Given the description of an element on the screen output the (x, y) to click on. 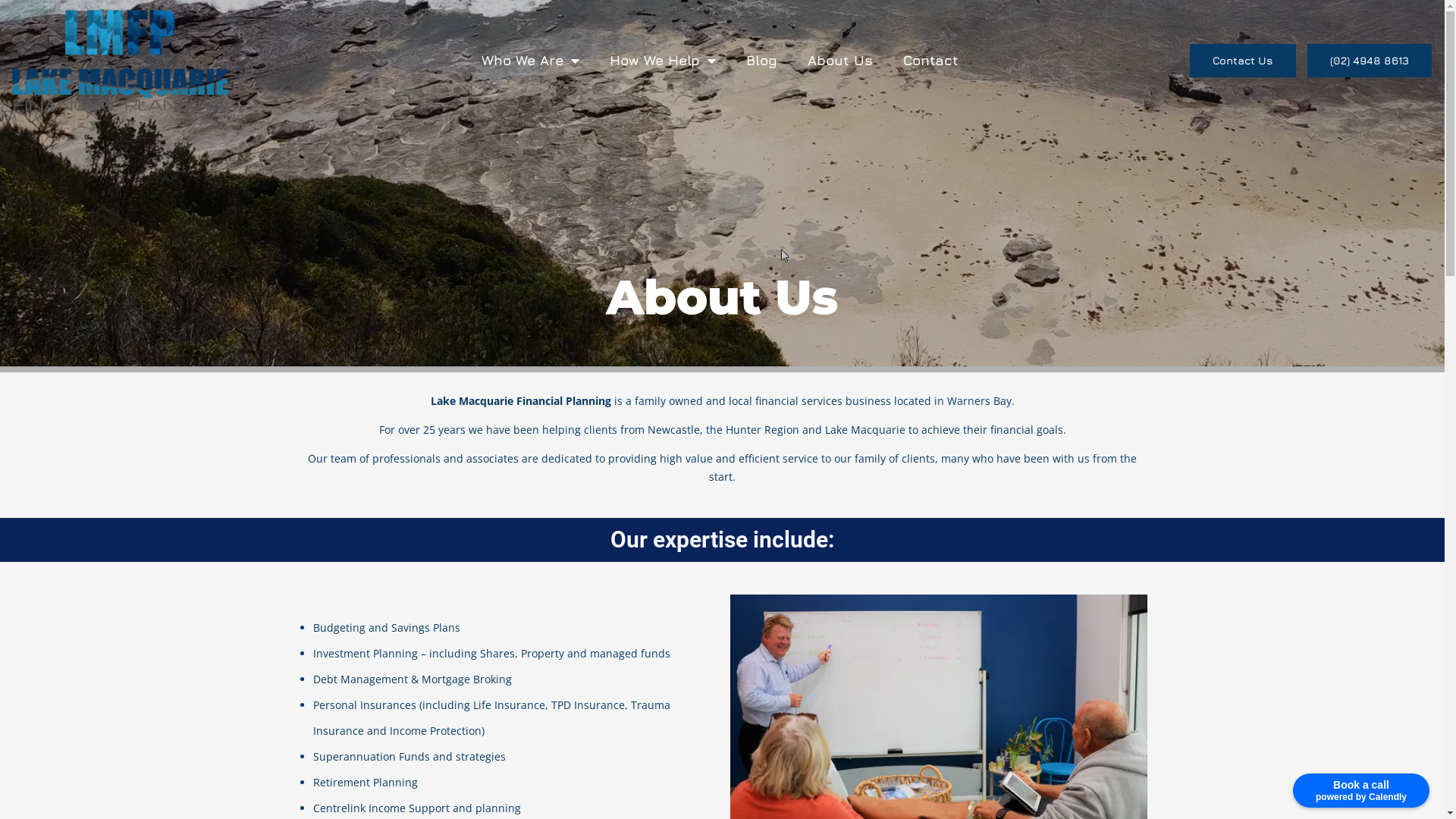
Blog Element type: text (761, 59)
Who We Are Element type: text (530, 59)
(02) 4948 8613 Element type: text (1369, 60)
Contact Element type: text (930, 59)
About Us Element type: text (840, 59)
Contact Us Element type: text (1242, 60)
How We Help Element type: text (662, 59)
